Given the description of an element on the screen output the (x, y) to click on. 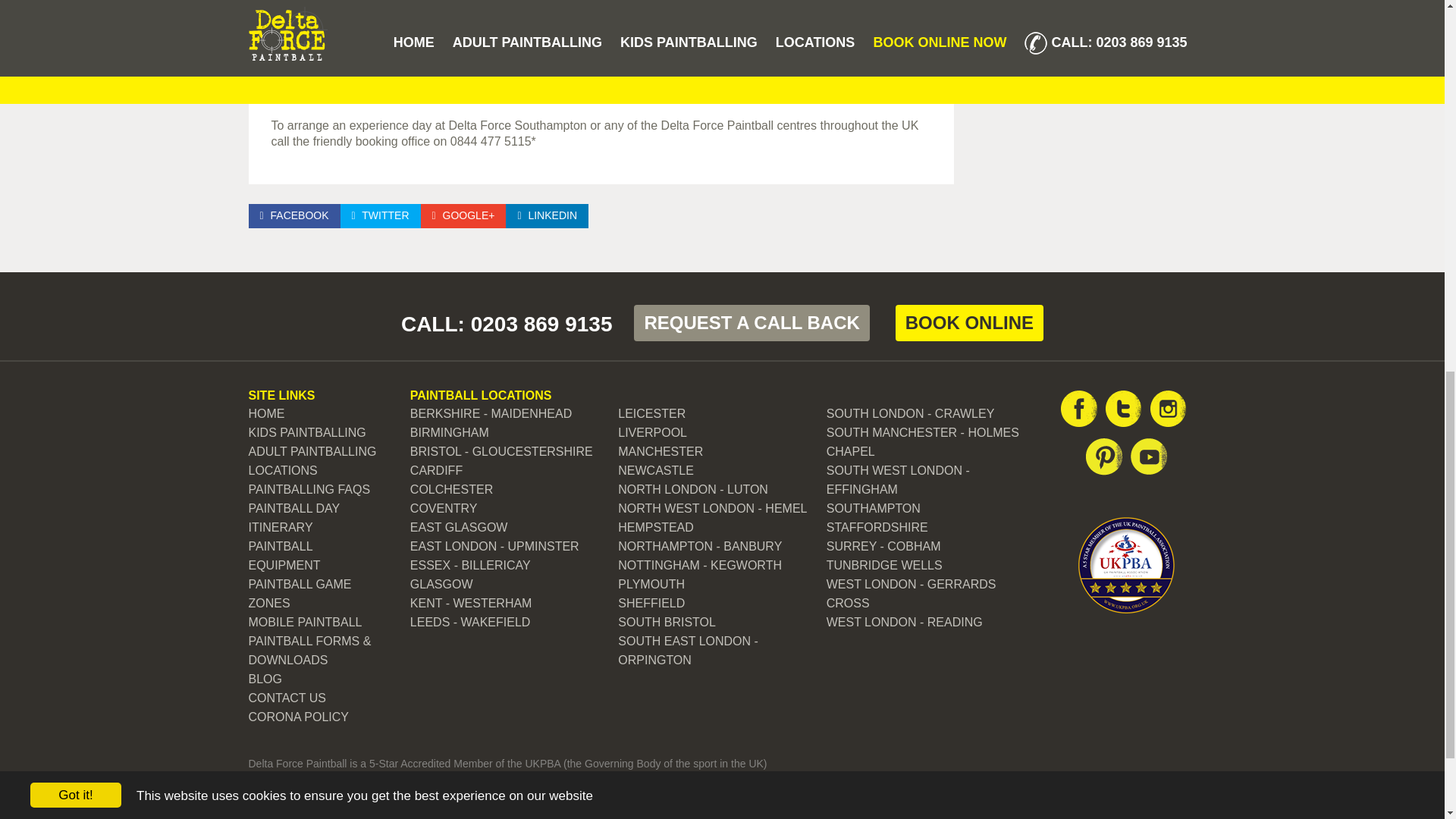
TWITTER (380, 215)
LINKEDIN (546, 215)
FACEBOOK (294, 215)
paintball centres throughout the UK (791, 47)
